Given the description of an element on the screen output the (x, y) to click on. 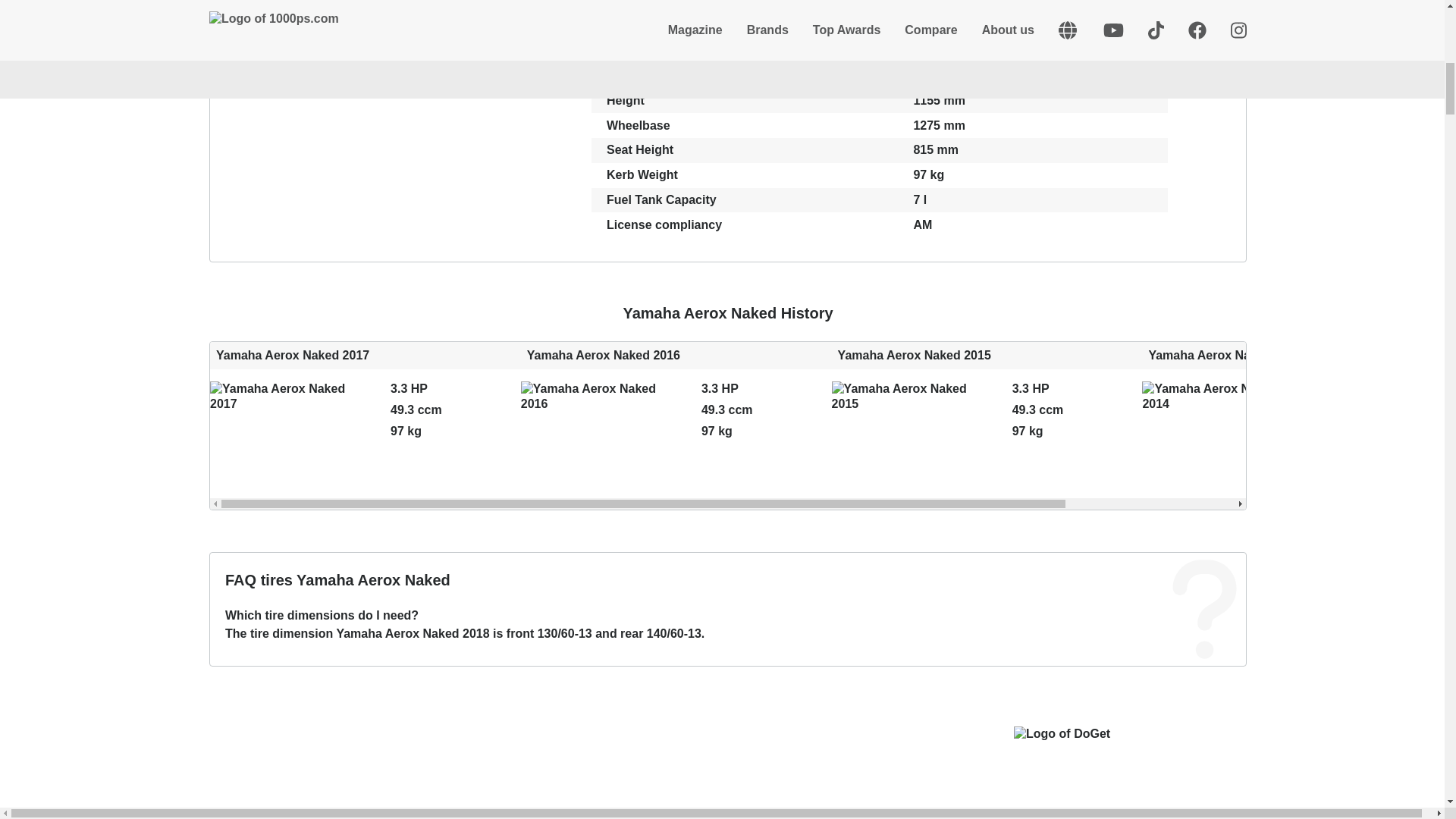
Yamaha Aerox Naked 2015 (676, 419)
Yamaha Aerox Naked 2017 (365, 419)
Yamaha Aerox Naked 2016 (901, 433)
Yamaha Aerox Naked 2014 (1297, 419)
Sharing real good times (279, 433)
